Given the description of an element on the screen output the (x, y) to click on. 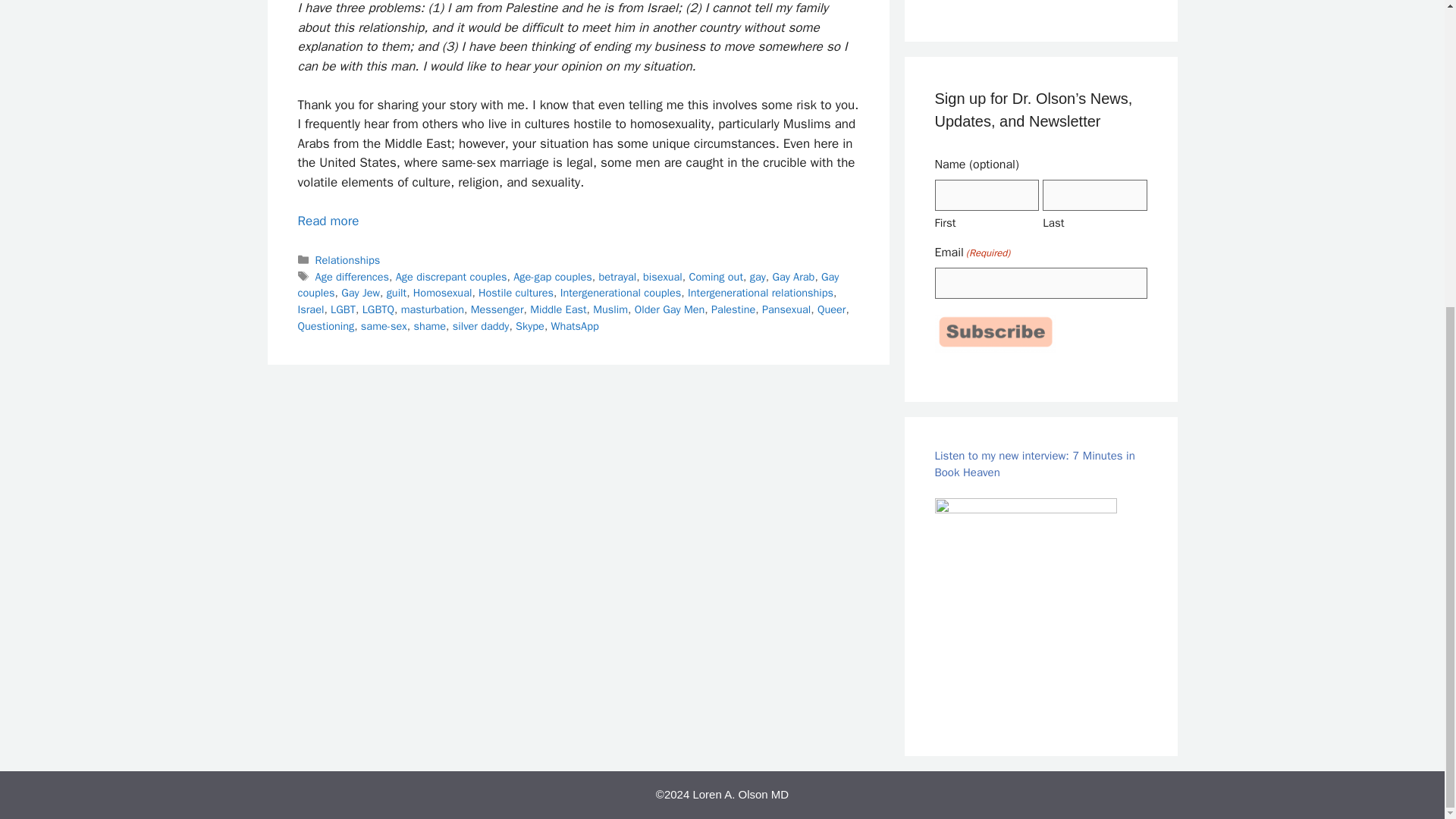
bisexual (662, 276)
Age discrepant couples (451, 276)
Age differences (351, 276)
Gay Jew (360, 292)
Gay Arab (792, 276)
Gay couples (567, 285)
Homosexual (442, 292)
Coming out (715, 276)
betrayal (617, 276)
Love Affair between an Arab and a Jew (327, 220)
